Given the description of an element on the screen output the (x, y) to click on. 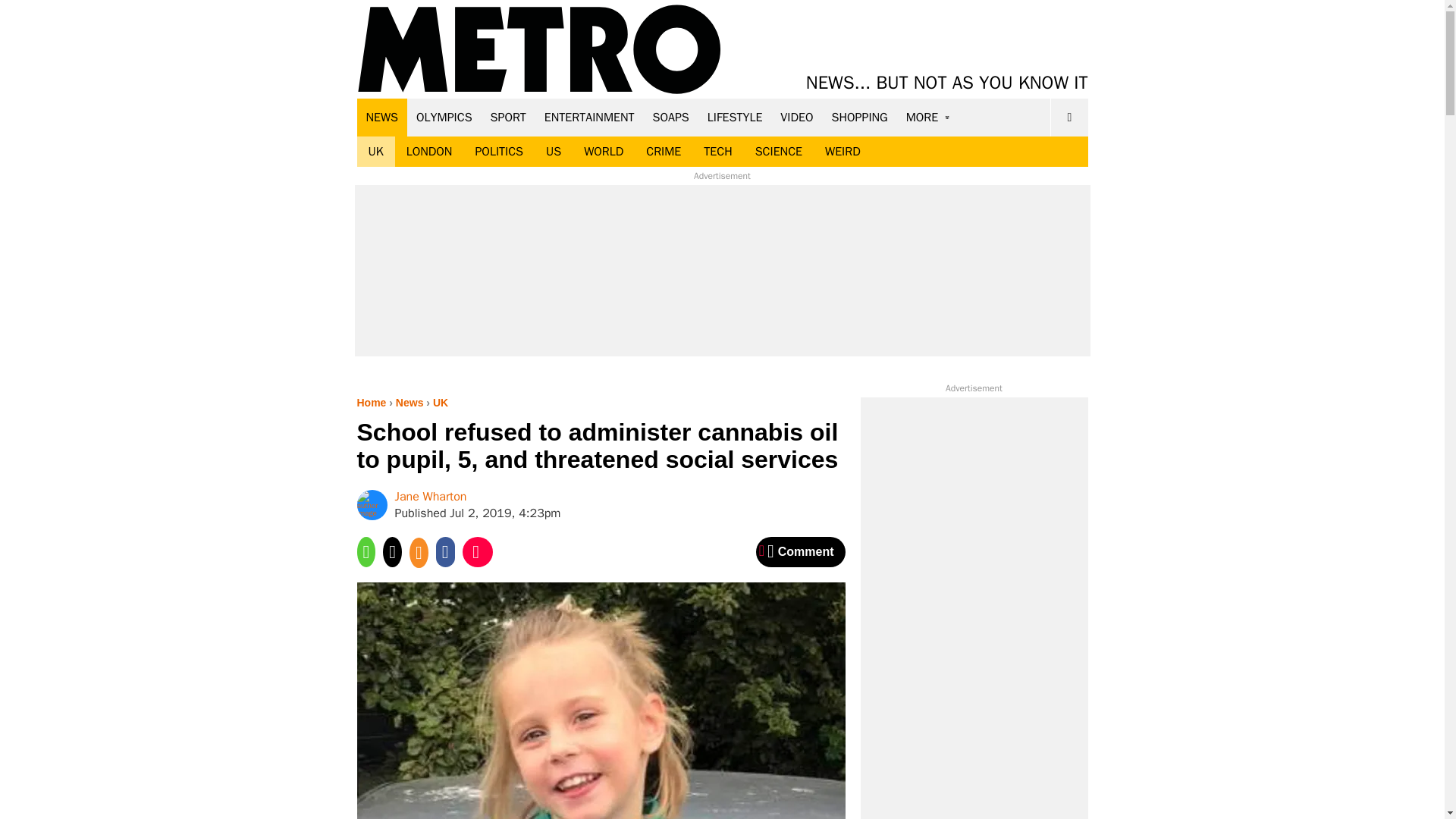
UK (375, 151)
SPORT (508, 117)
POLITICS (498, 151)
SOAPS (670, 117)
WORLD (603, 151)
SCIENCE (778, 151)
Metro (539, 50)
NEWS (381, 117)
OLYMPICS (444, 117)
TECH (717, 151)
CRIME (663, 151)
US (553, 151)
WEIRD (842, 151)
LIFESTYLE (734, 117)
ENTERTAINMENT (589, 117)
